Given the description of an element on the screen output the (x, y) to click on. 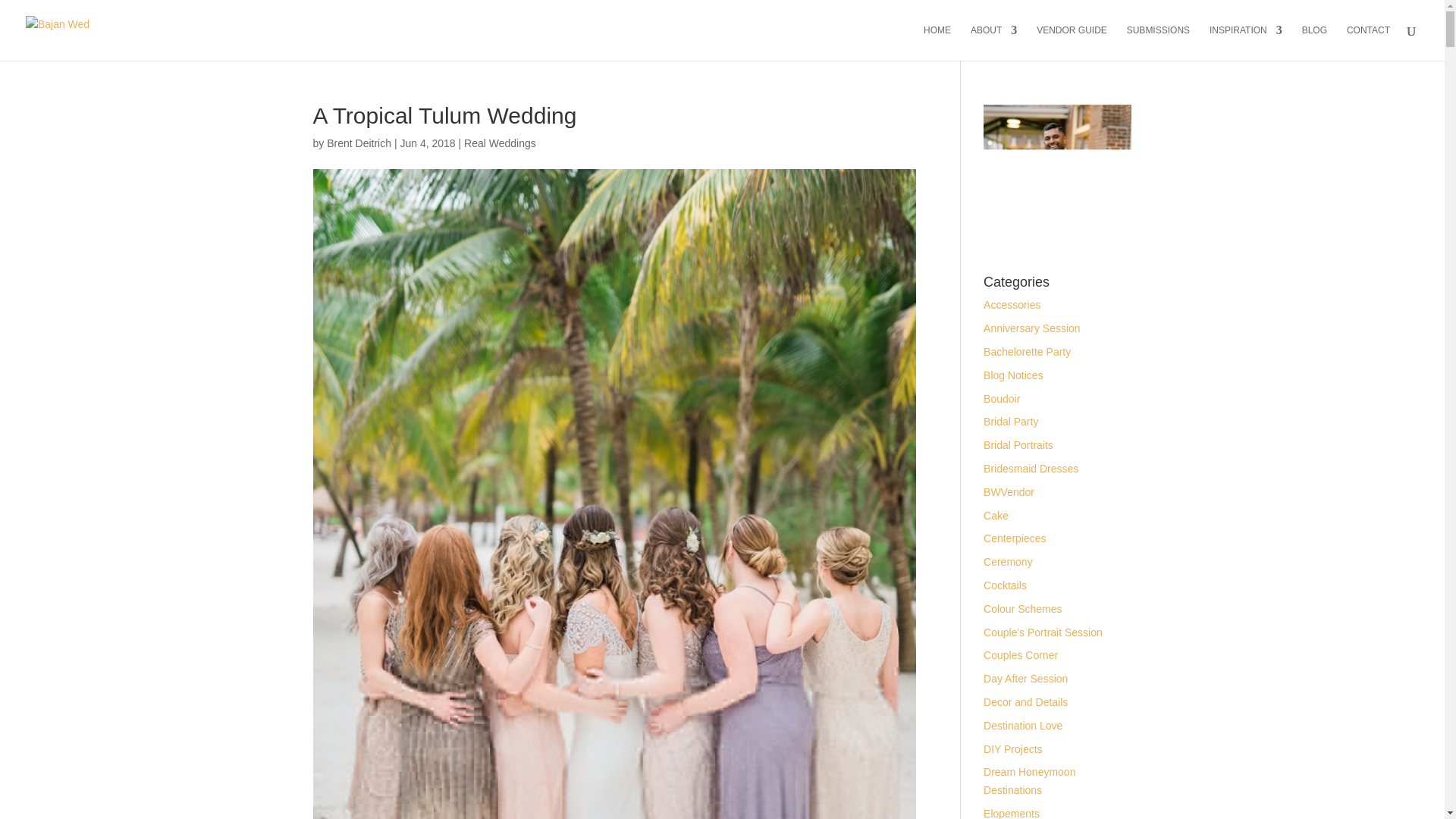
CONTACT (1368, 42)
SUBMISSIONS (1157, 42)
Posts by Brent Deitrich (358, 143)
Brent Deitrich (358, 143)
ABOUT (993, 42)
INSPIRATION (1245, 42)
Real Weddings (499, 143)
VENDOR GUIDE (1071, 42)
